Given the description of an element on the screen output the (x, y) to click on. 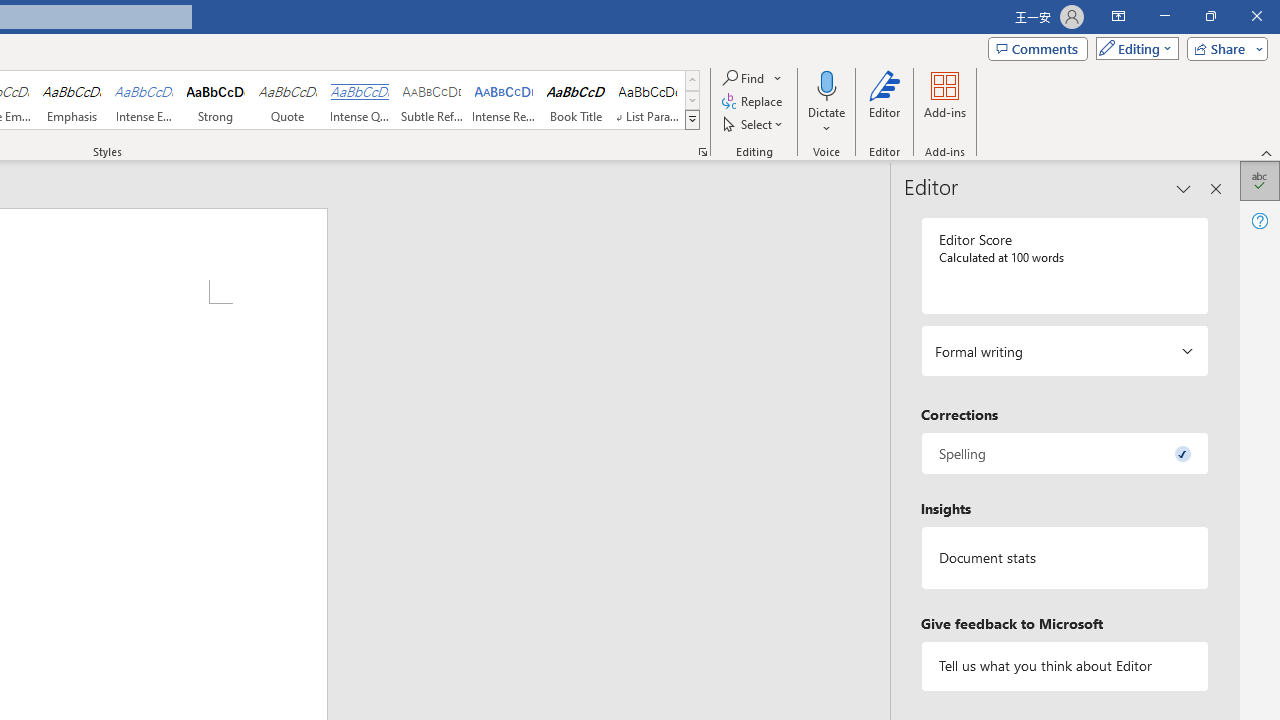
Task Pane Options (1183, 188)
Styles (692, 120)
Dictate (826, 102)
Comments (1038, 48)
Close (1256, 16)
Editor (1260, 180)
Subtle Reference (431, 100)
Intense Emphasis (143, 100)
Dictate (826, 84)
Editor (885, 102)
Close pane (1215, 188)
Class: NetUIImage (692, 119)
Strong (216, 100)
